Given the description of an element on the screen output the (x, y) to click on. 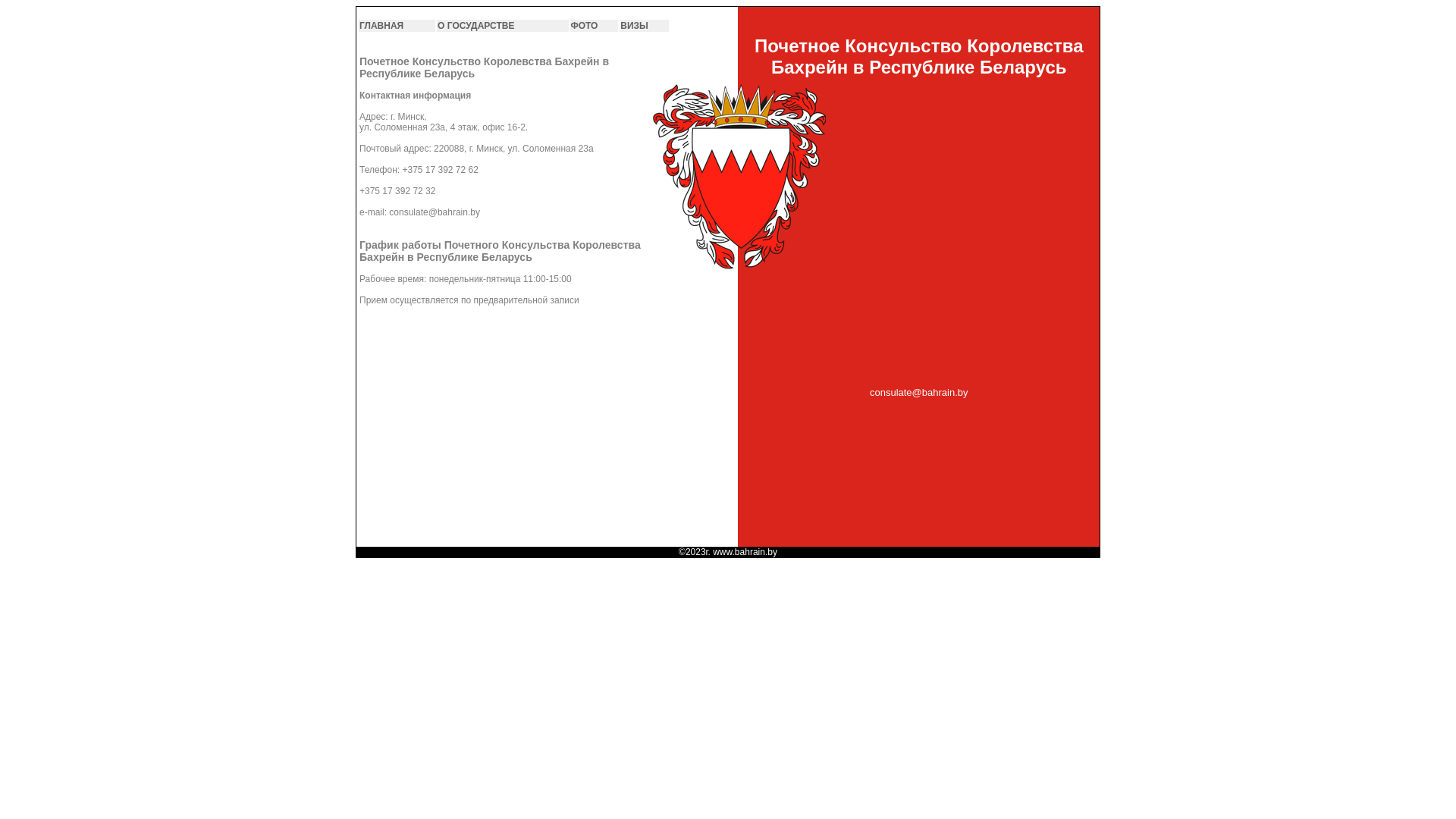
consulate@bahrain.by Element type: text (918, 398)
